Given the description of an element on the screen output the (x, y) to click on. 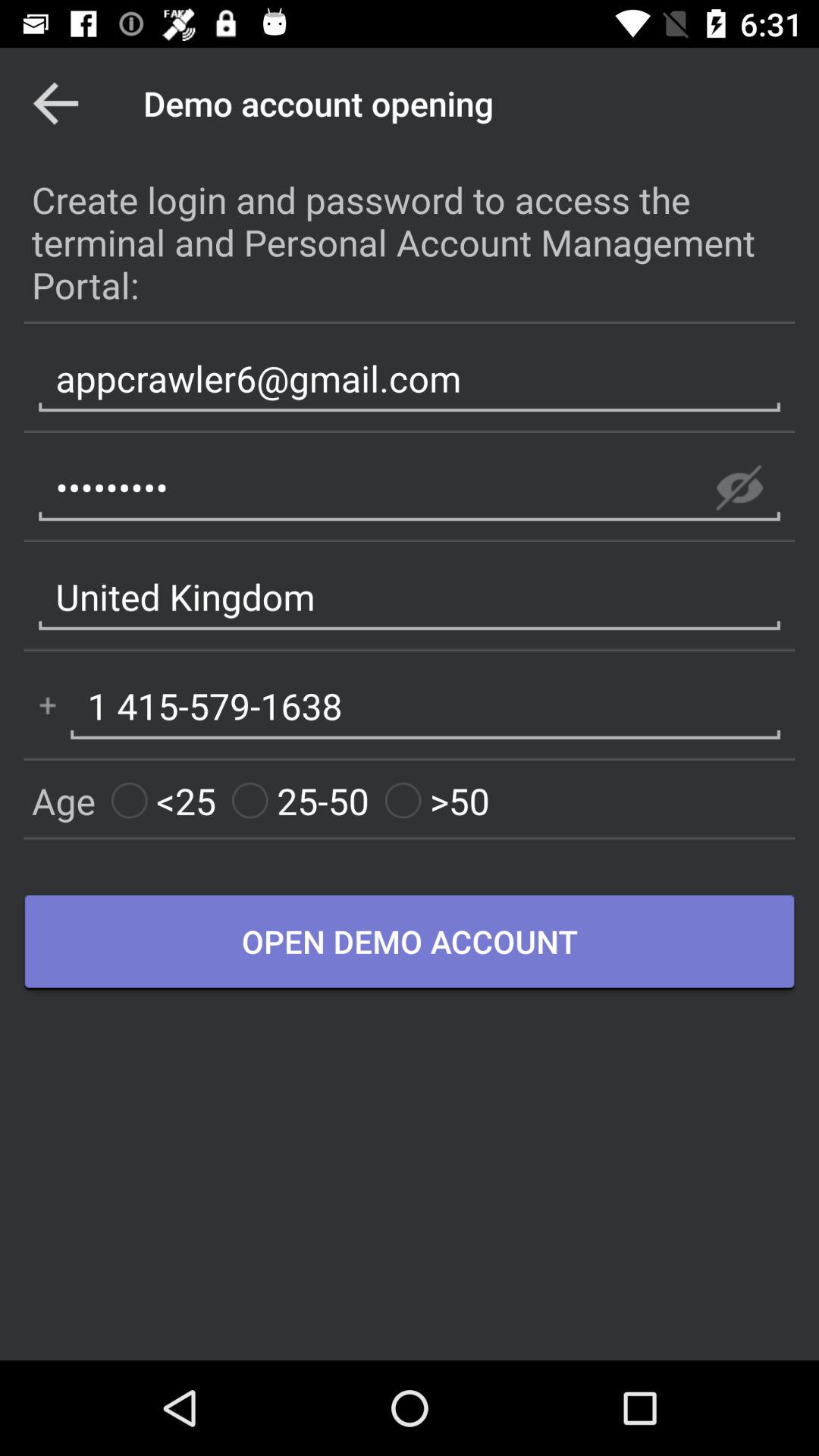
launch the united kingdom (409, 597)
